Given the description of an element on the screen output the (x, y) to click on. 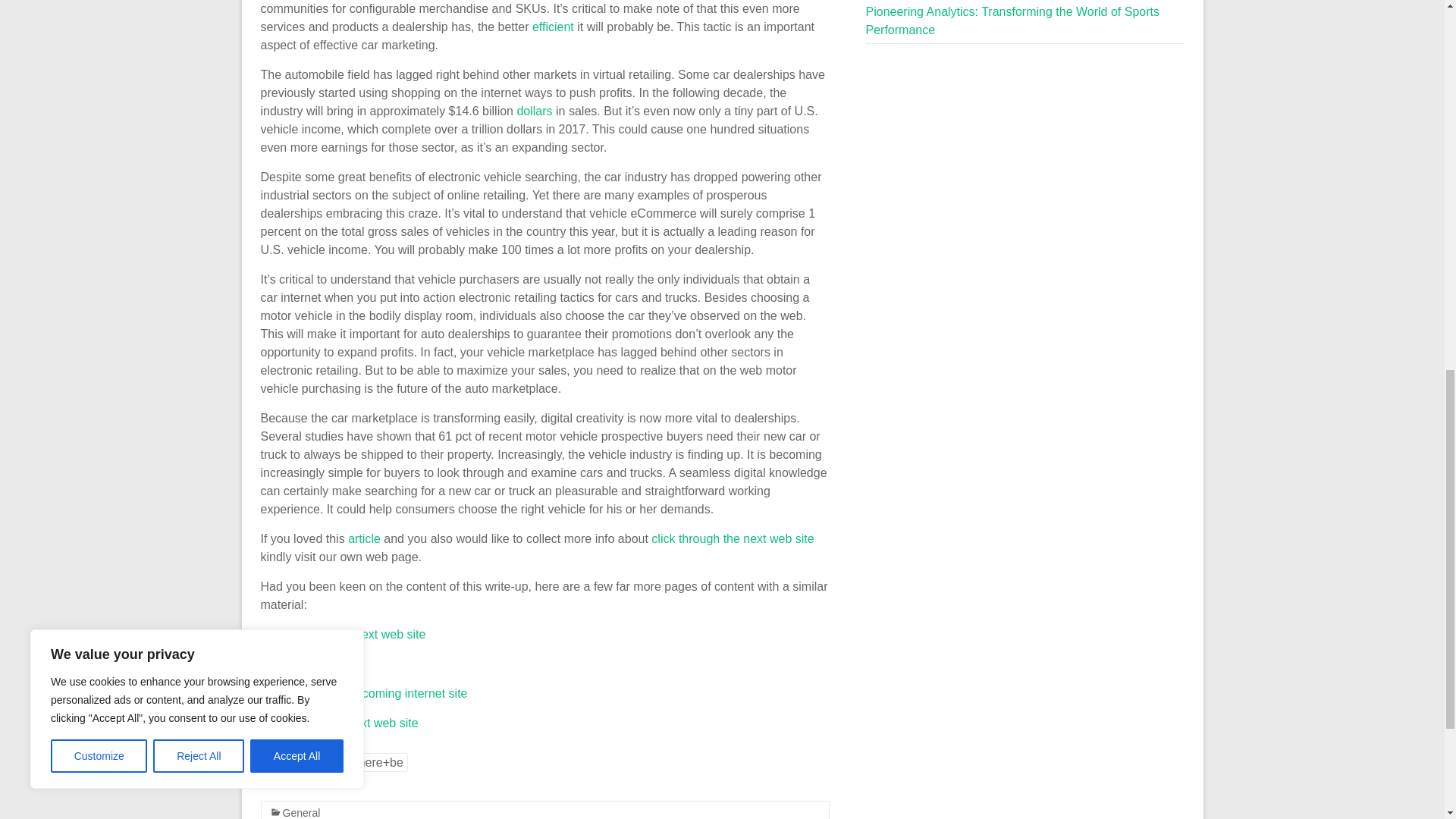
simply click the up coming internet site (363, 693)
efficient (552, 26)
click through the next web site (731, 538)
Click through the next web site (343, 634)
dollars (533, 110)
article (363, 538)
Read Full Report (306, 663)
mouse click the next web site (339, 722)
General (301, 812)
